Given the description of an element on the screen output the (x, y) to click on. 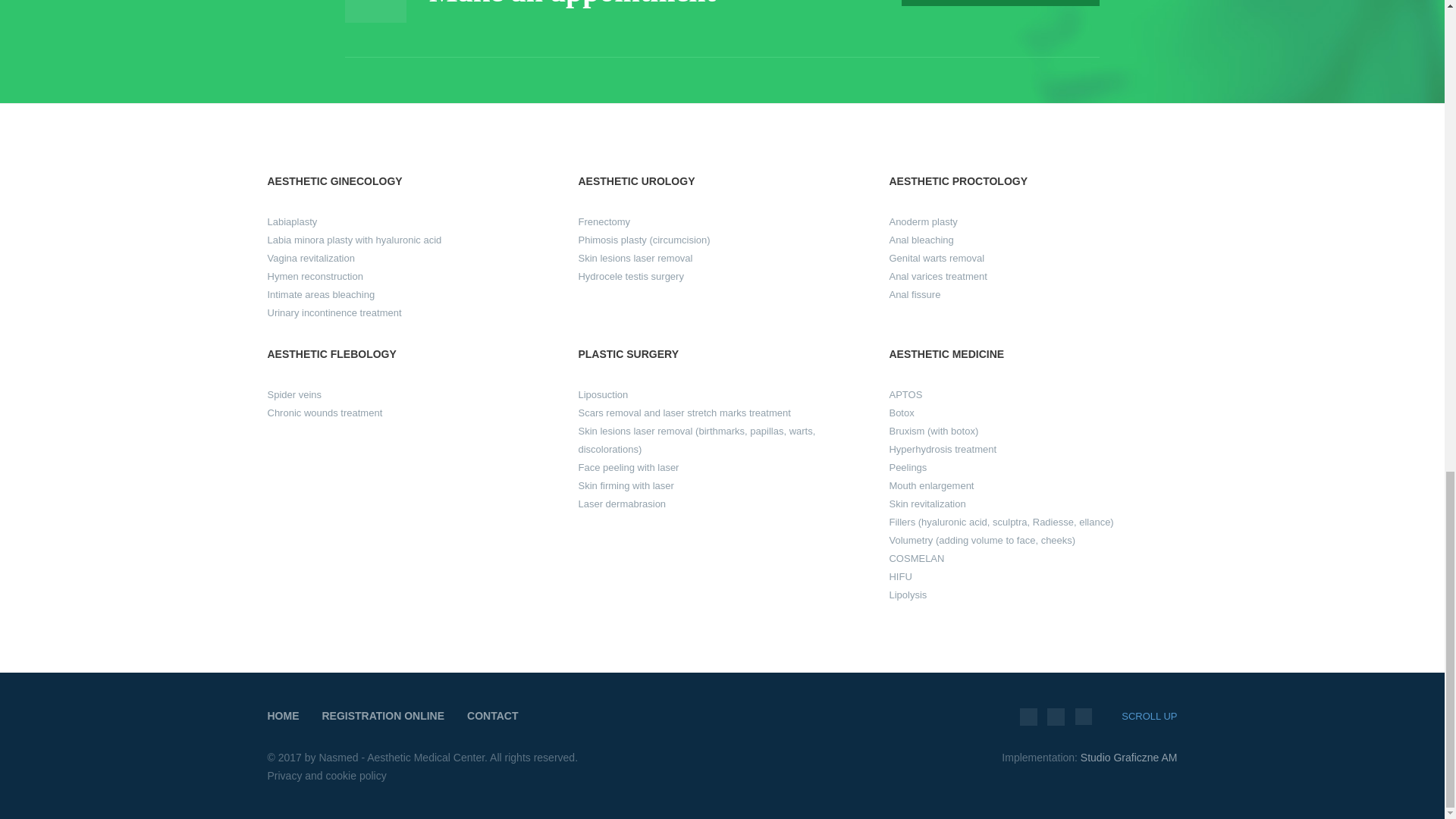
SCROLL UP (1148, 715)
Vagina revitalization (309, 257)
Labia minora plasty with hyaluronic acid (353, 239)
Skin lesions laser removal (635, 257)
Genital warts removal (936, 257)
Anal fissure (914, 294)
Intimate areas bleaching (320, 294)
Anoderm plasty (922, 221)
Online registration (1000, 2)
Labiaplasty (291, 221)
Hymen reconstruction (314, 276)
Frenectomy (604, 221)
Anal bleaching (920, 239)
Urinary incontinence treatment (333, 312)
Hydrocele testis surgery (630, 276)
